Given the description of an element on the screen output the (x, y) to click on. 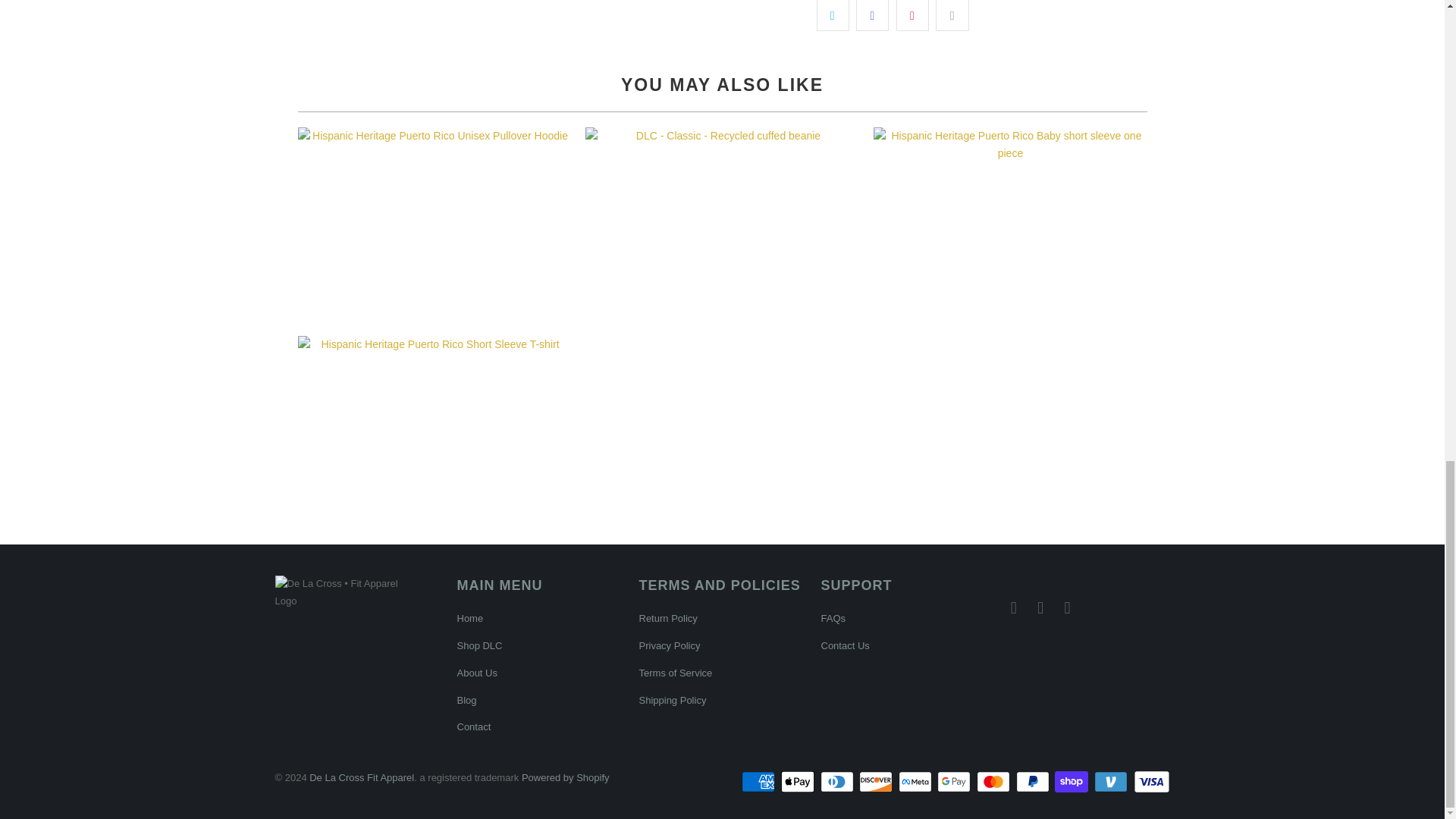
Share this on Facebook (872, 15)
De La Cross Fit Apparel on Instagram (1067, 607)
Email De La Cross Fit Apparel (1014, 607)
Share this on Twitter (831, 15)
Venmo (1112, 781)
Apple Pay (798, 781)
Diners Club (839, 781)
Shop Pay (1072, 781)
American Express (759, 781)
Visa (1150, 781)
